Given the description of an element on the screen output the (x, y) to click on. 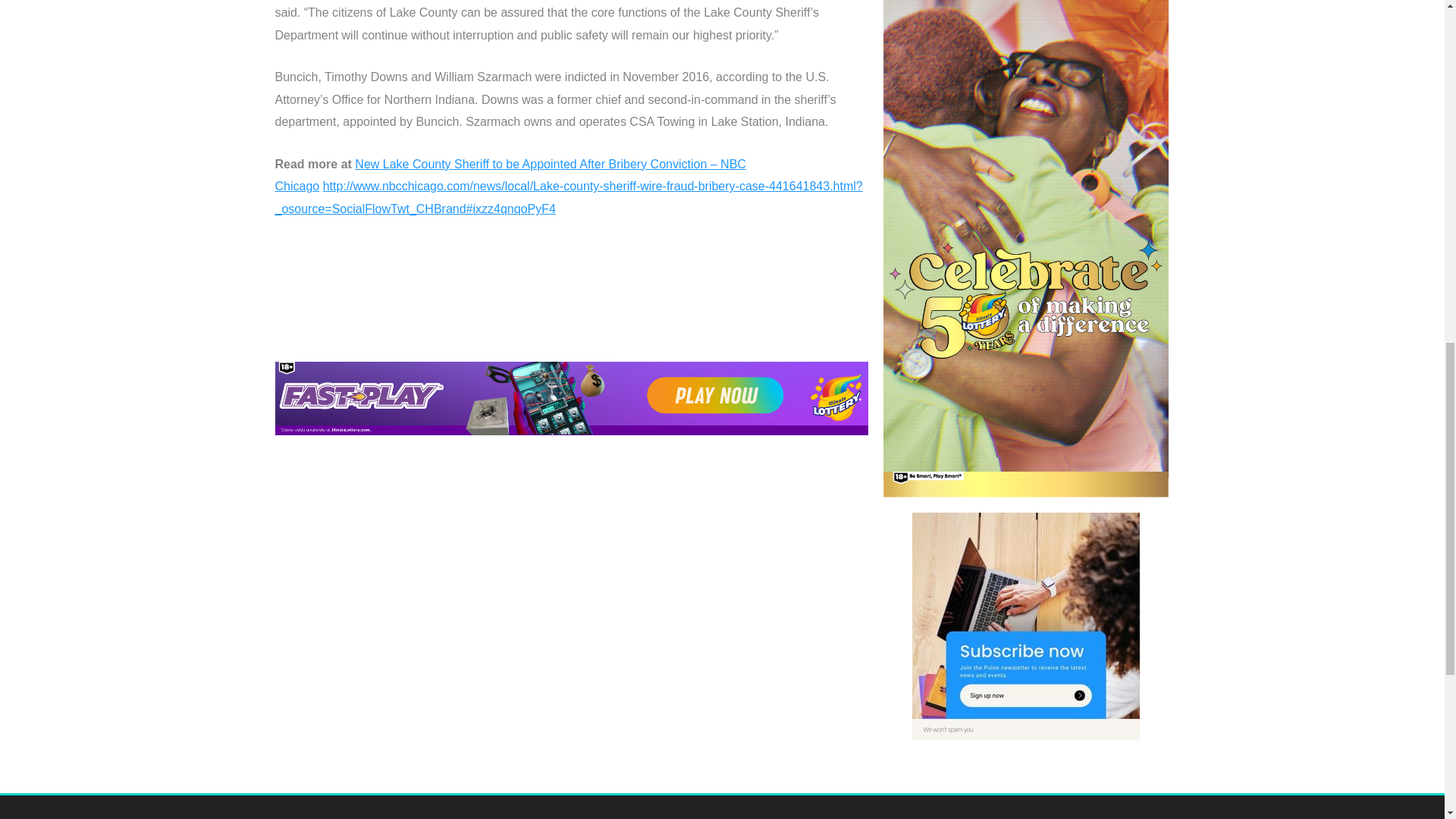
Fast Play-Lottery-Footer-July 2024 (571, 397)
